Given the description of an element on the screen output the (x, y) to click on. 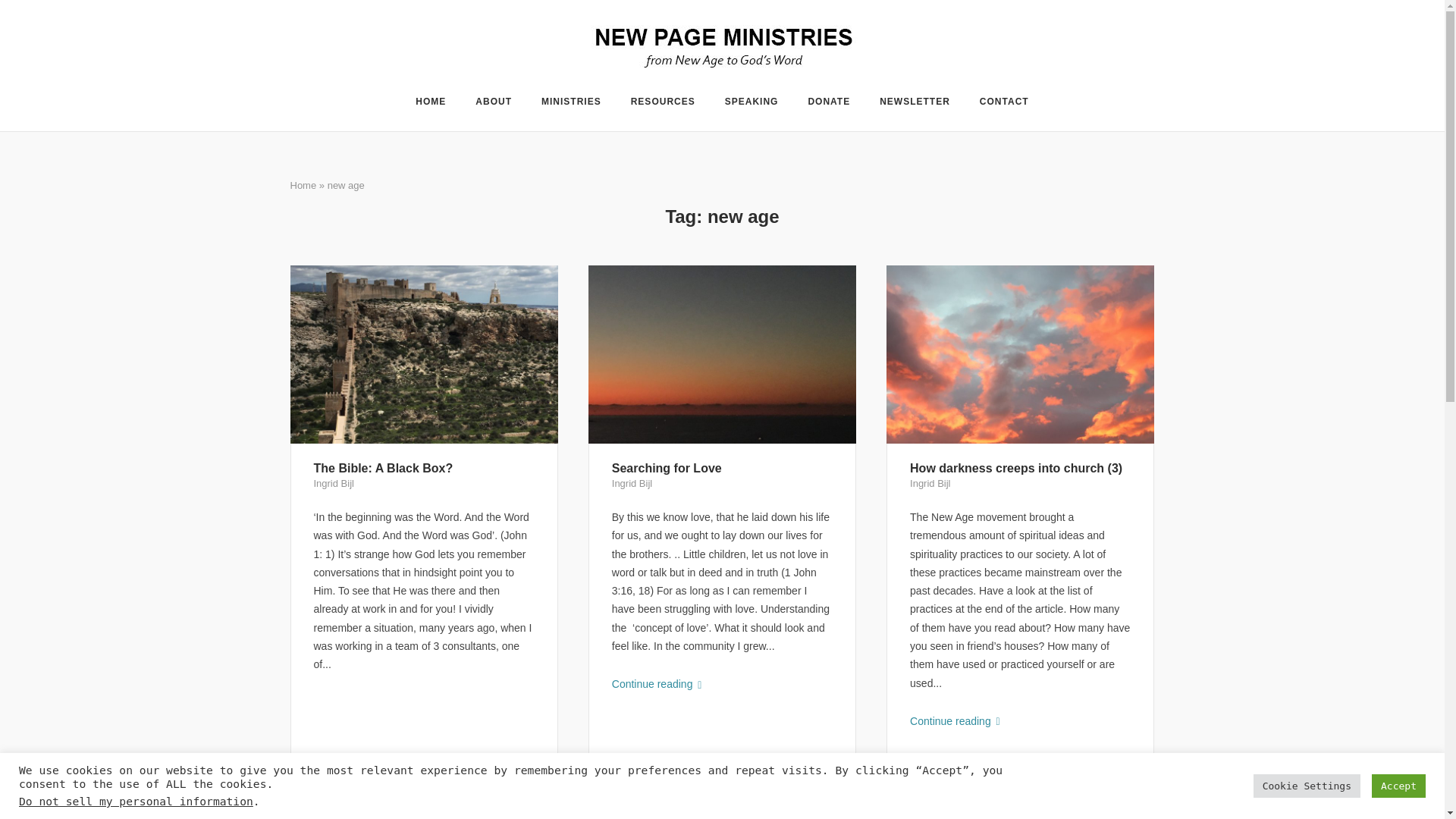
RESOURCES (662, 103)
Searching for Love (666, 468)
MINISTRIES (571, 103)
Ingrid Bijl (930, 482)
DONATE (829, 103)
Continue reading (721, 683)
Ingrid Bijl (333, 482)
Ingrid Bijl (631, 482)
ABOUT (494, 103)
Home (302, 184)
